Given the description of an element on the screen output the (x, y) to click on. 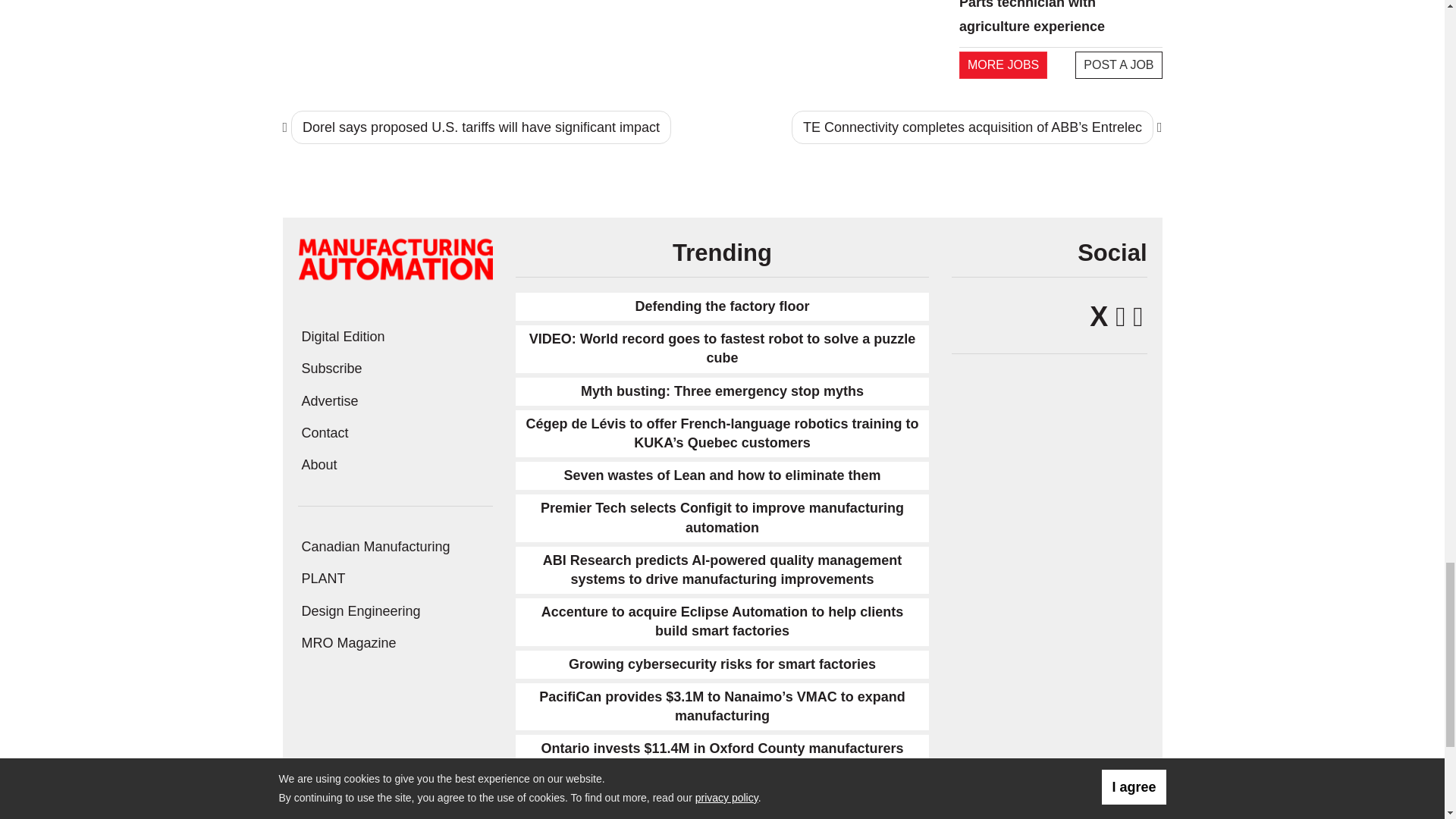
Manufacturing AUTOMATION (395, 257)
